Given the description of an element on the screen output the (x, y) to click on. 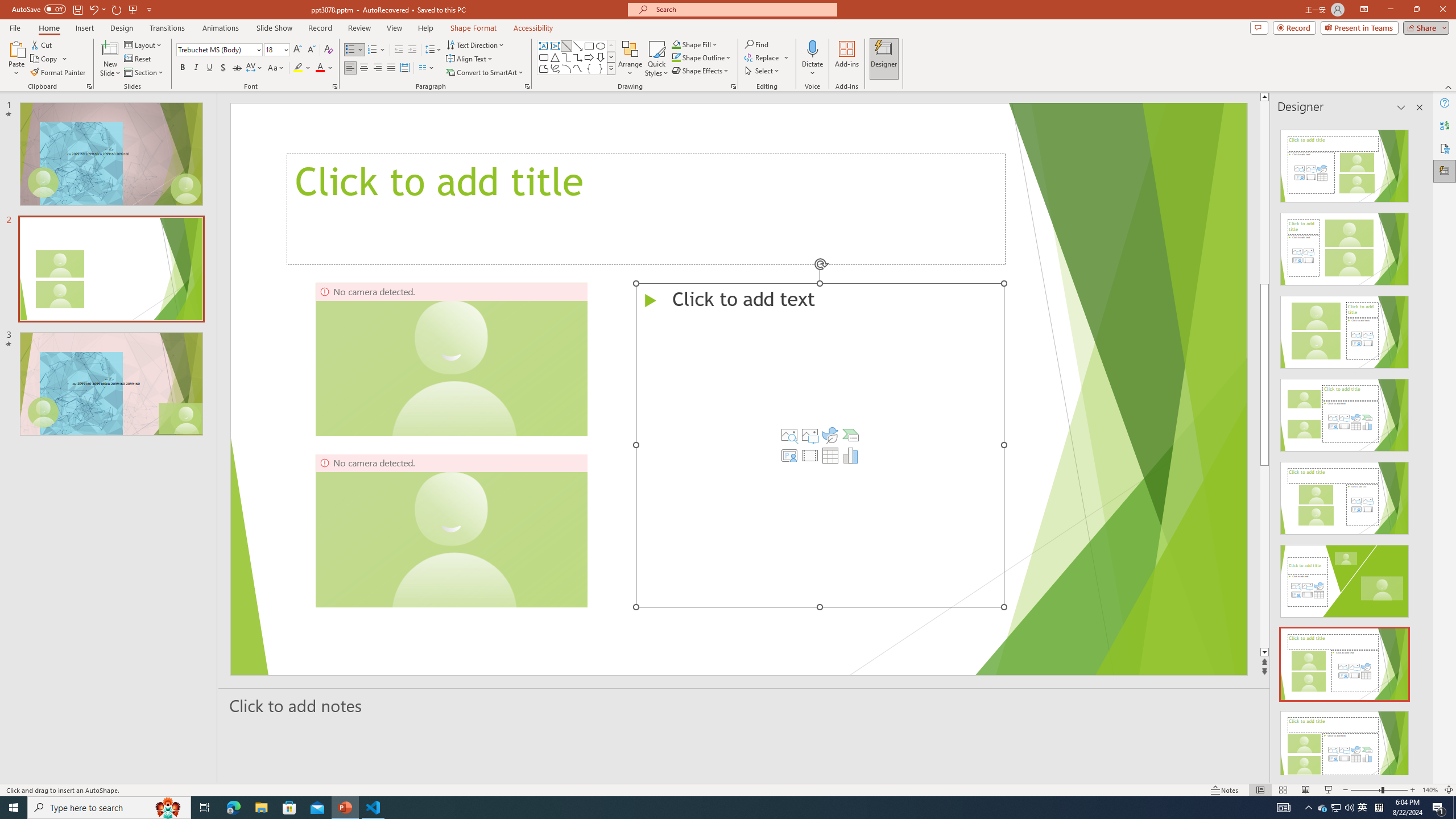
Freeform: Shape (543, 68)
Rectangle: Rounded Corners (543, 57)
Insert a SmartArt Graphic (850, 434)
Increase Indent (412, 49)
Paragraph... (526, 85)
Find... (756, 44)
